Given the description of an element on the screen output the (x, y) to click on. 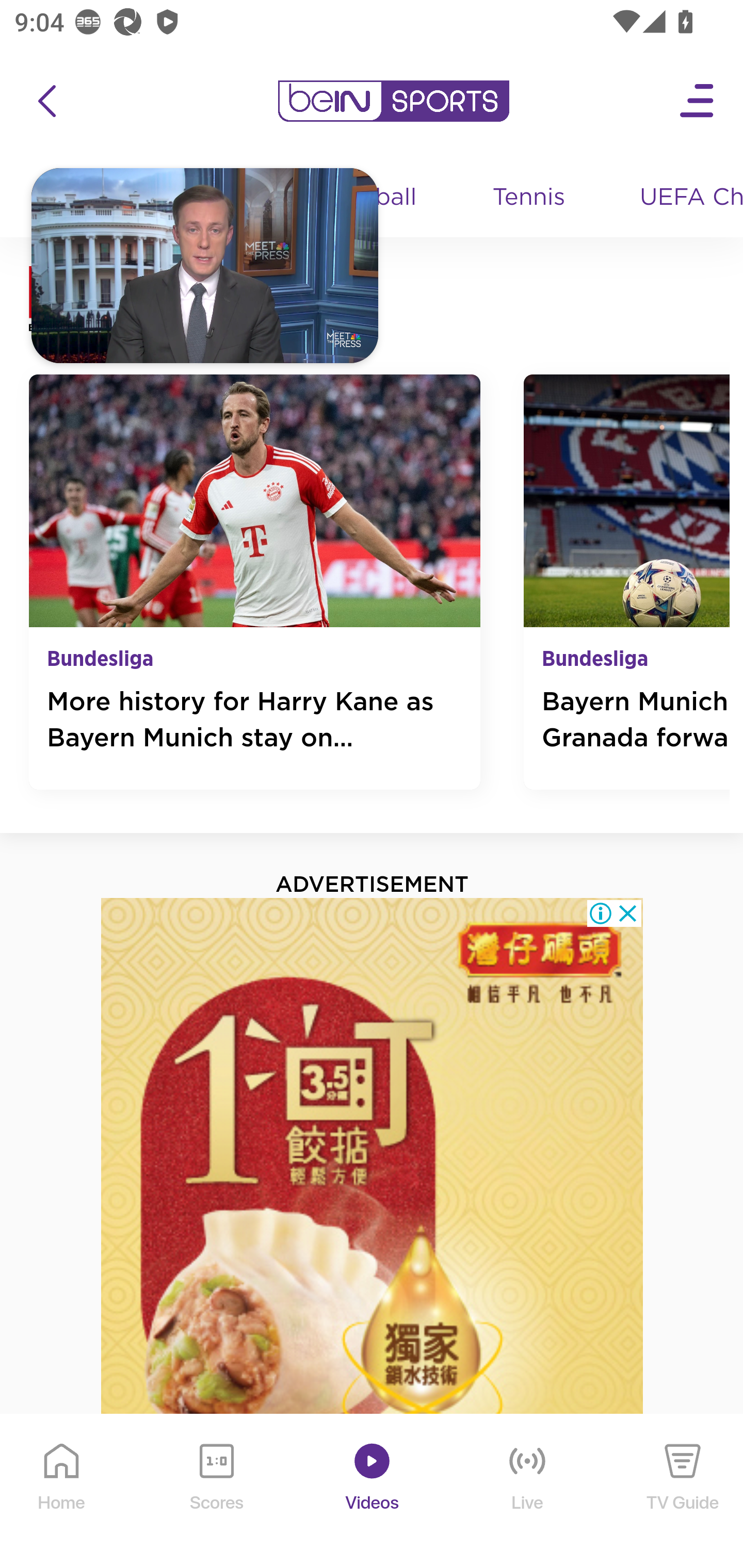
en-my?platform=mobile_android bein logo (392, 101)
icon back (46, 101)
Open Menu Icon (697, 101)
Tennis (530, 198)
UEFA Champions League (683, 198)
Advertisement (372, 1232)
Advertisement (372, 1232)
Home Home Icon Home (61, 1491)
Scores Scores Icon Scores (216, 1491)
Videos Videos Icon Videos (372, 1491)
TV Guide TV Guide Icon TV Guide (682, 1491)
